Given the description of an element on the screen output the (x, y) to click on. 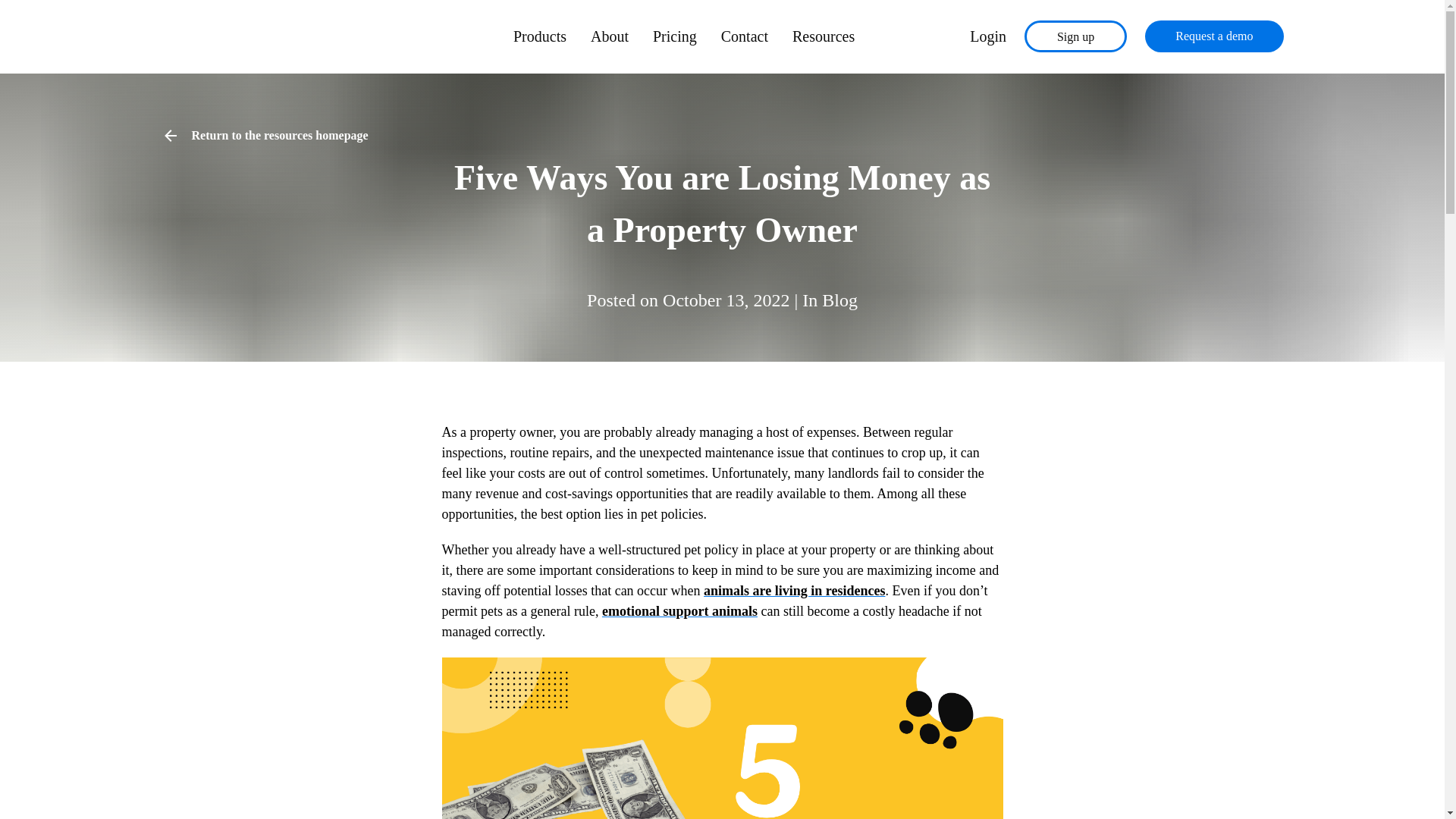
Pricing (674, 36)
emotional support animals (679, 611)
Request a demo (1213, 36)
animals are living in residences (794, 590)
Resources (823, 36)
Sign up (1075, 36)
Login (987, 36)
Return to the resources homepage (264, 135)
About (609, 36)
Contact (744, 36)
